Given the description of an element on the screen output the (x, y) to click on. 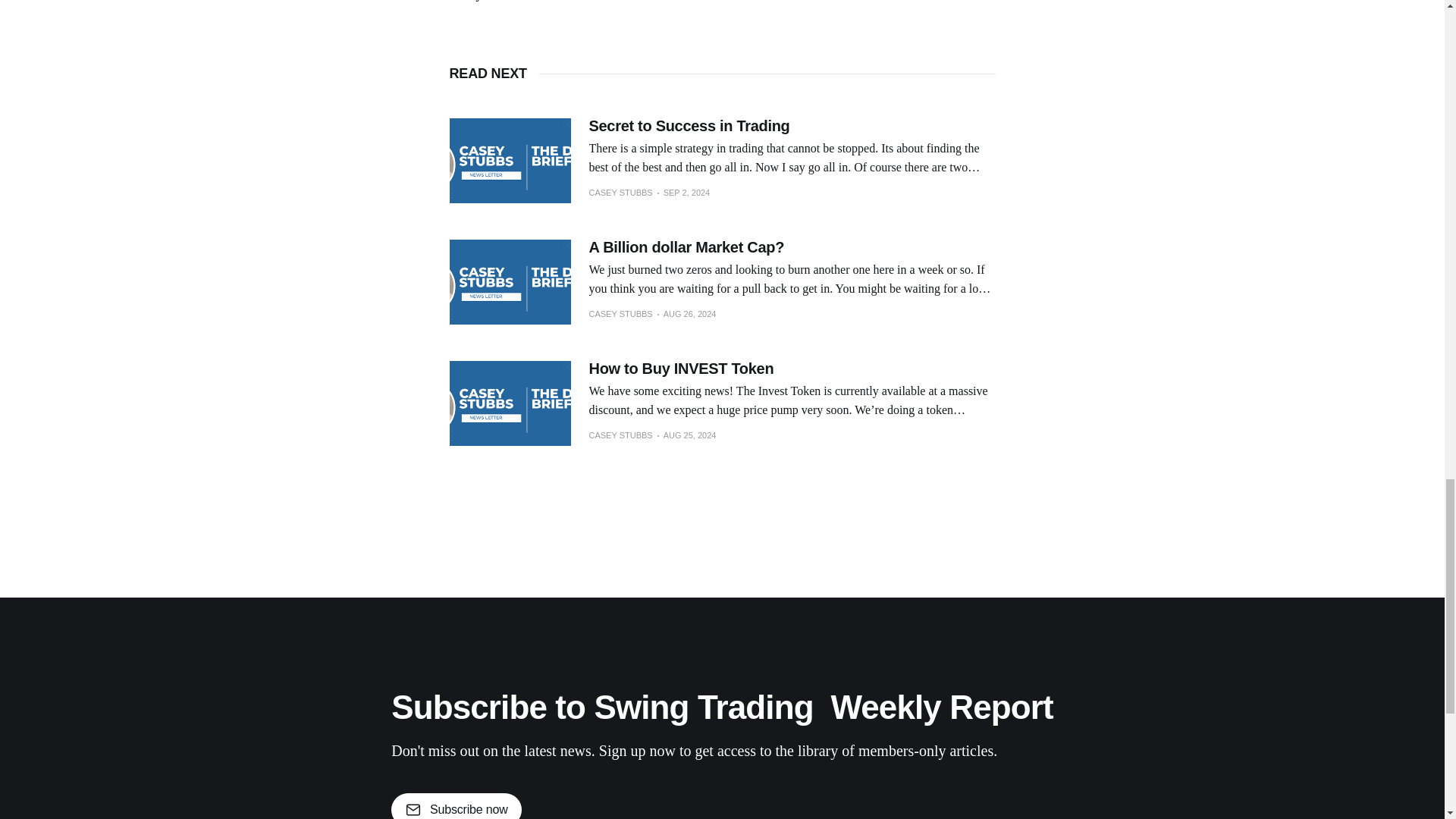
Subscribe now (456, 806)
